Given the description of an element on the screen output the (x, y) to click on. 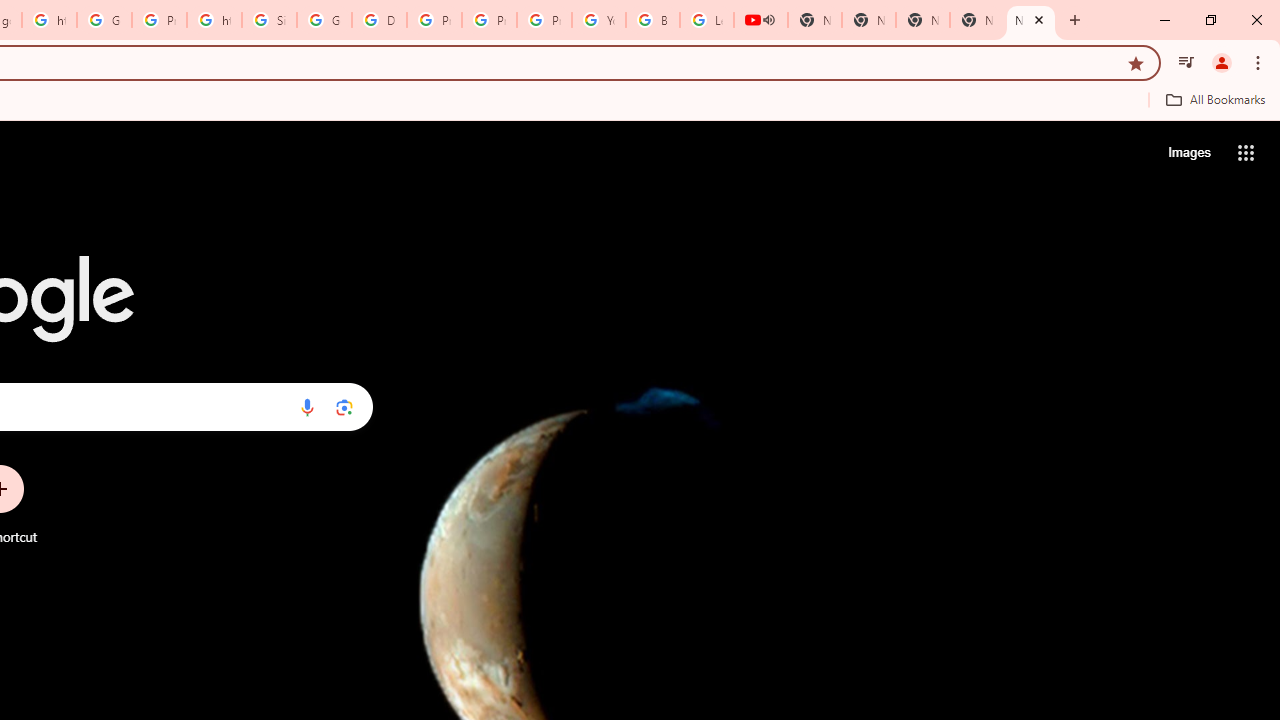
Sign in - Google Accounts (268, 20)
Privacy Help Center - Policies Help (434, 20)
https://scholar.google.com/ (48, 20)
https://scholar.google.com/ (213, 20)
